Given the description of an element on the screen output the (x, y) to click on. 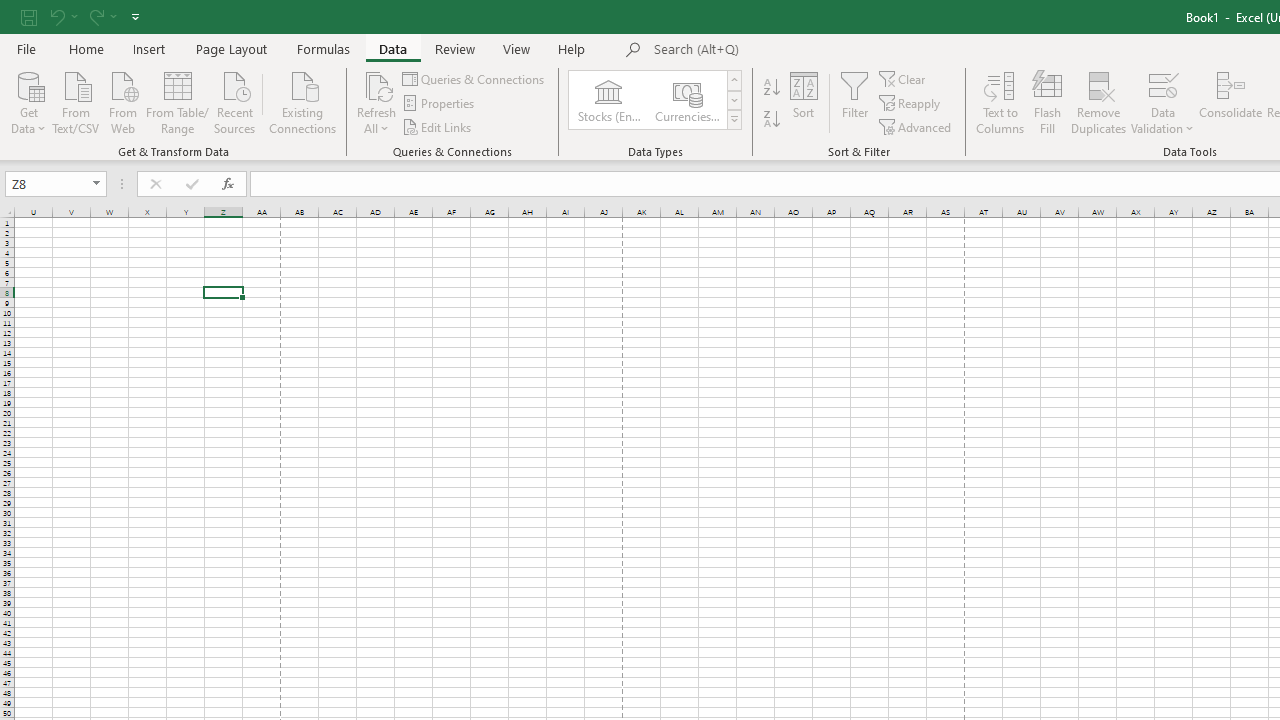
Consolidate... (1230, 102)
